Given the description of an element on the screen output the (x, y) to click on. 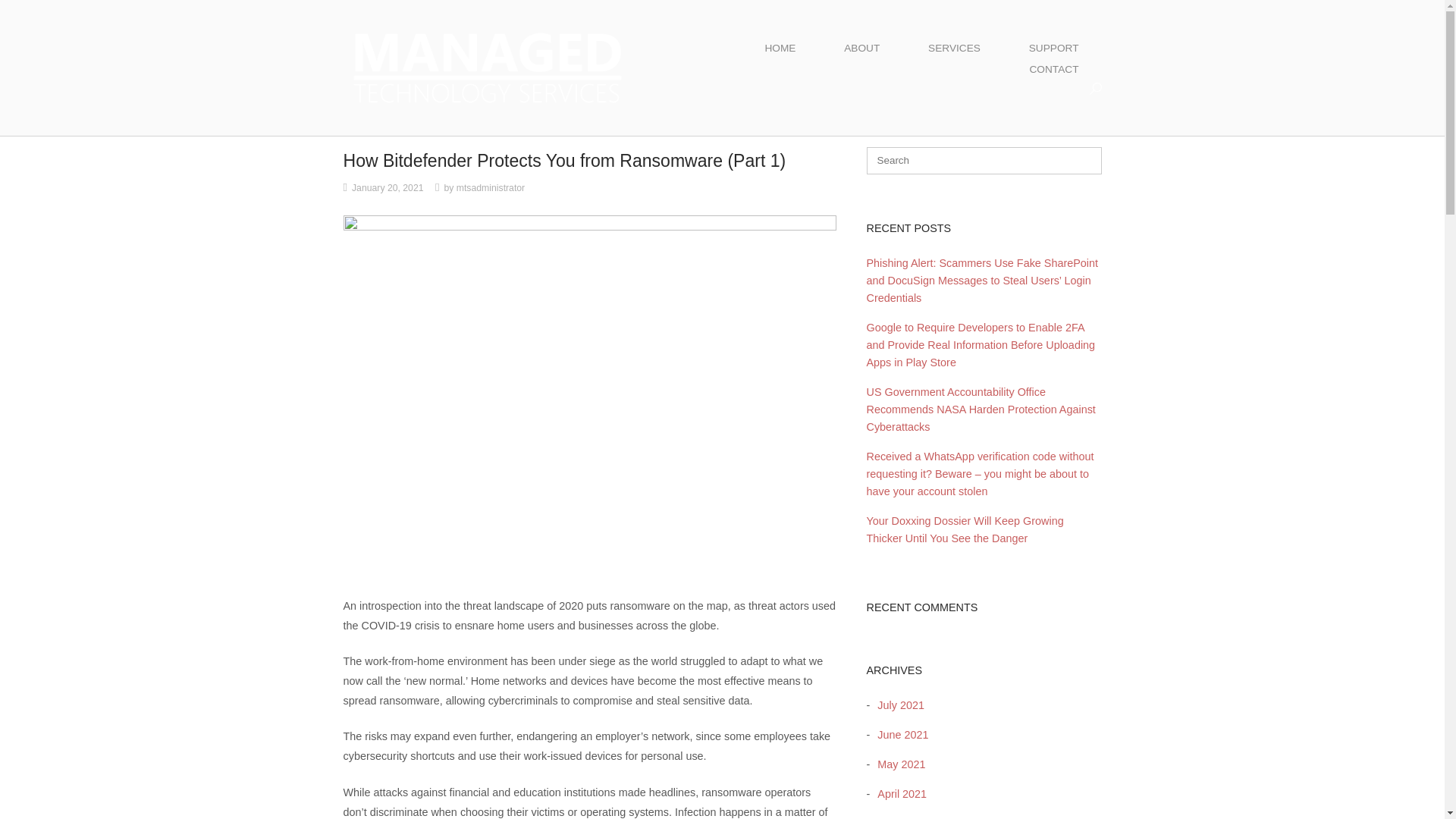
ABOUT (861, 48)
SUPPORT (1054, 48)
April 2021 (897, 793)
June 2021 (898, 734)
HOME (779, 48)
January 20, 2021 (387, 187)
March 2021 (901, 818)
SERVICES (954, 48)
